Given the description of an element on the screen output the (x, y) to click on. 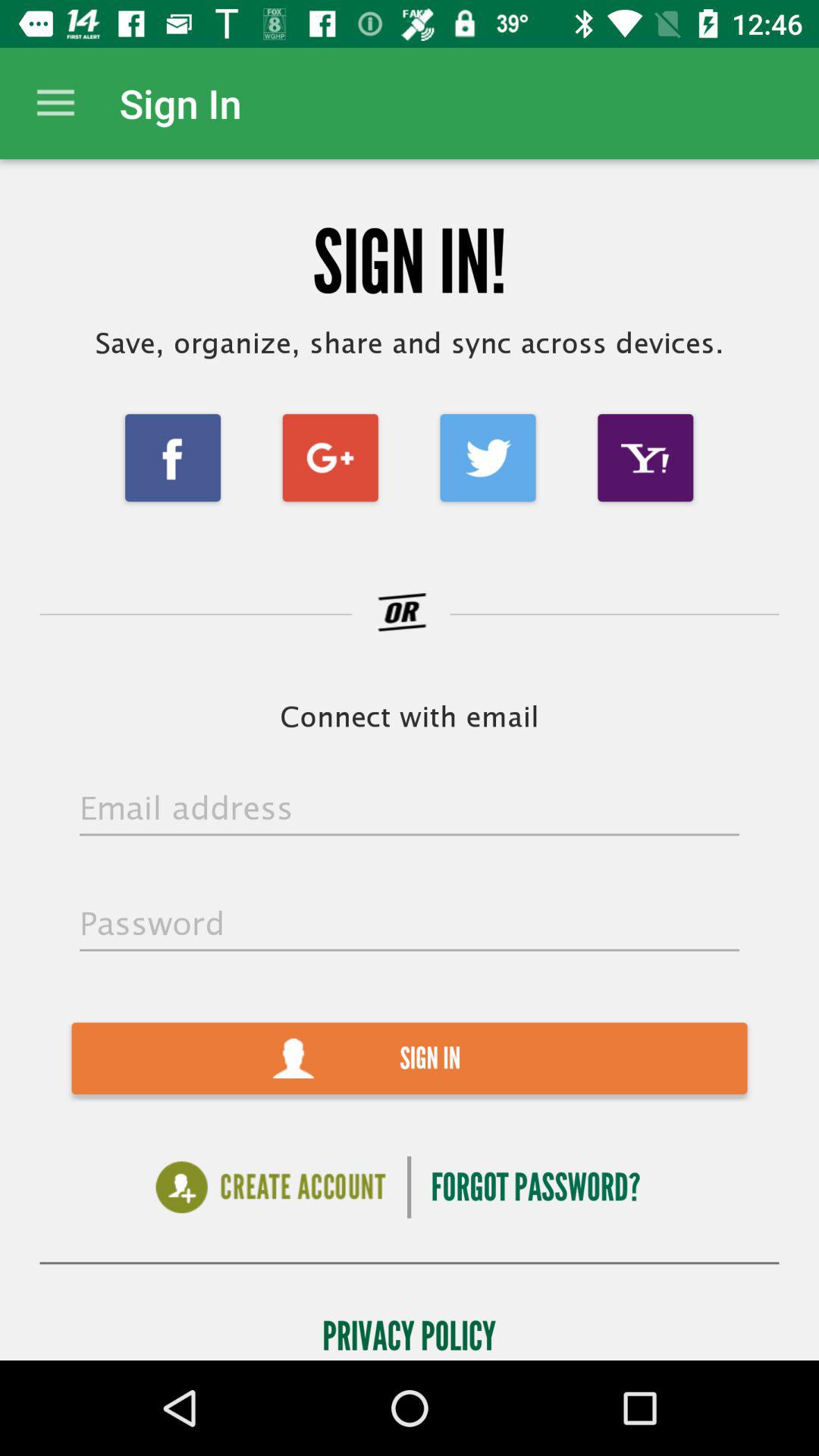
turn on forgot password? item (535, 1187)
